Given the description of an element on the screen output the (x, y) to click on. 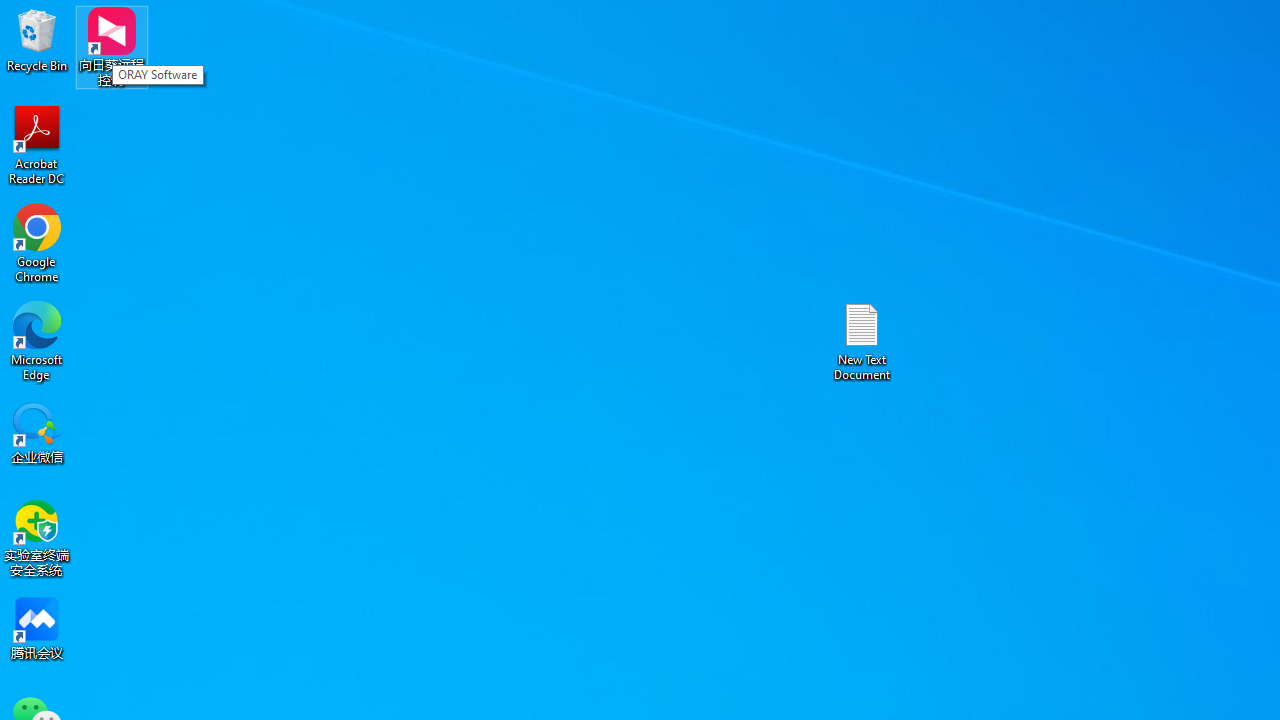
Microsoft Edge (37, 340)
Google Chrome (37, 242)
Acrobat Reader DC (37, 144)
Recycle Bin (37, 39)
New Text Document (861, 340)
